Given the description of an element on the screen output the (x, y) to click on. 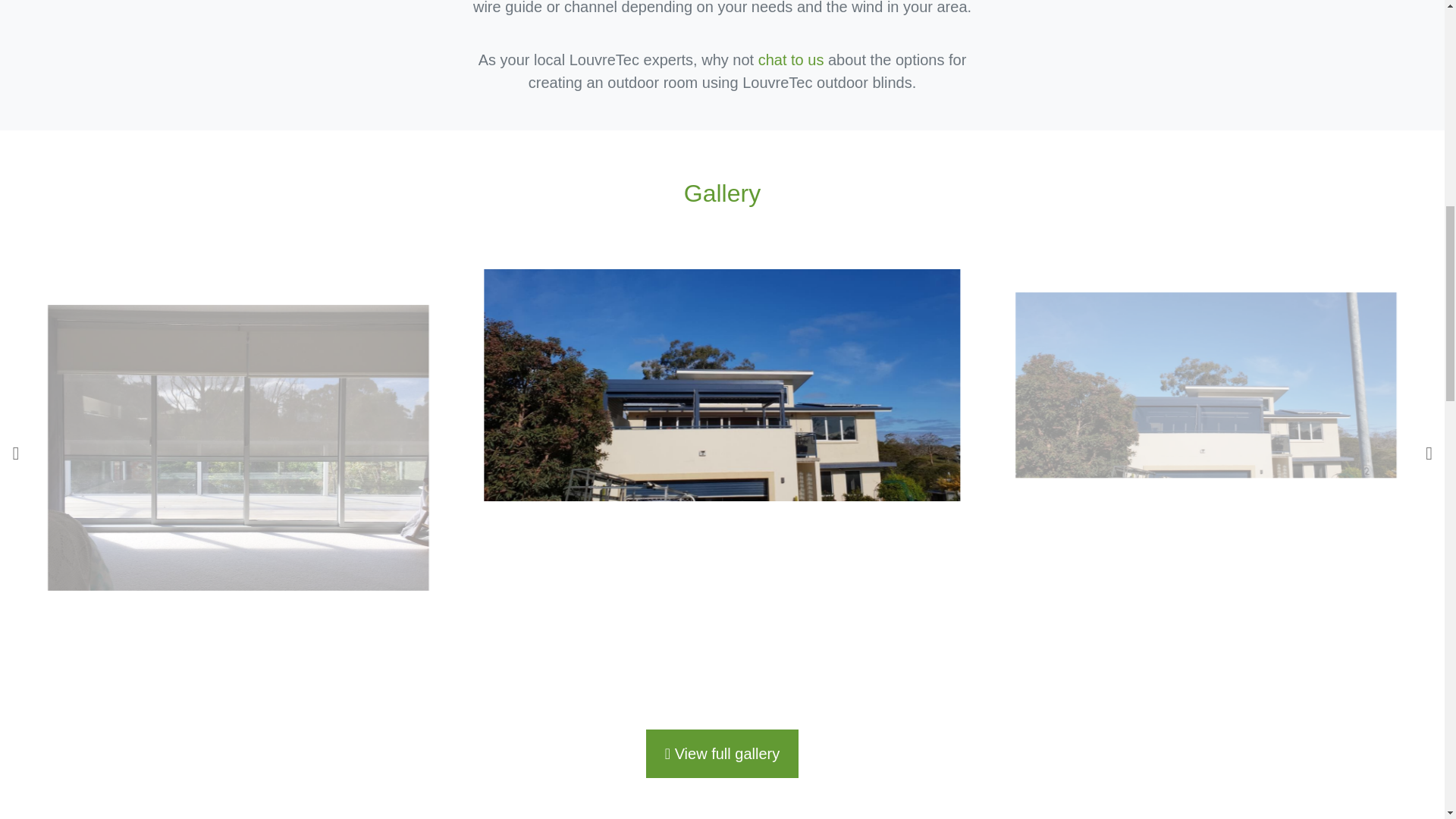
chat to us (791, 59)
